Given the description of an element on the screen output the (x, y) to click on. 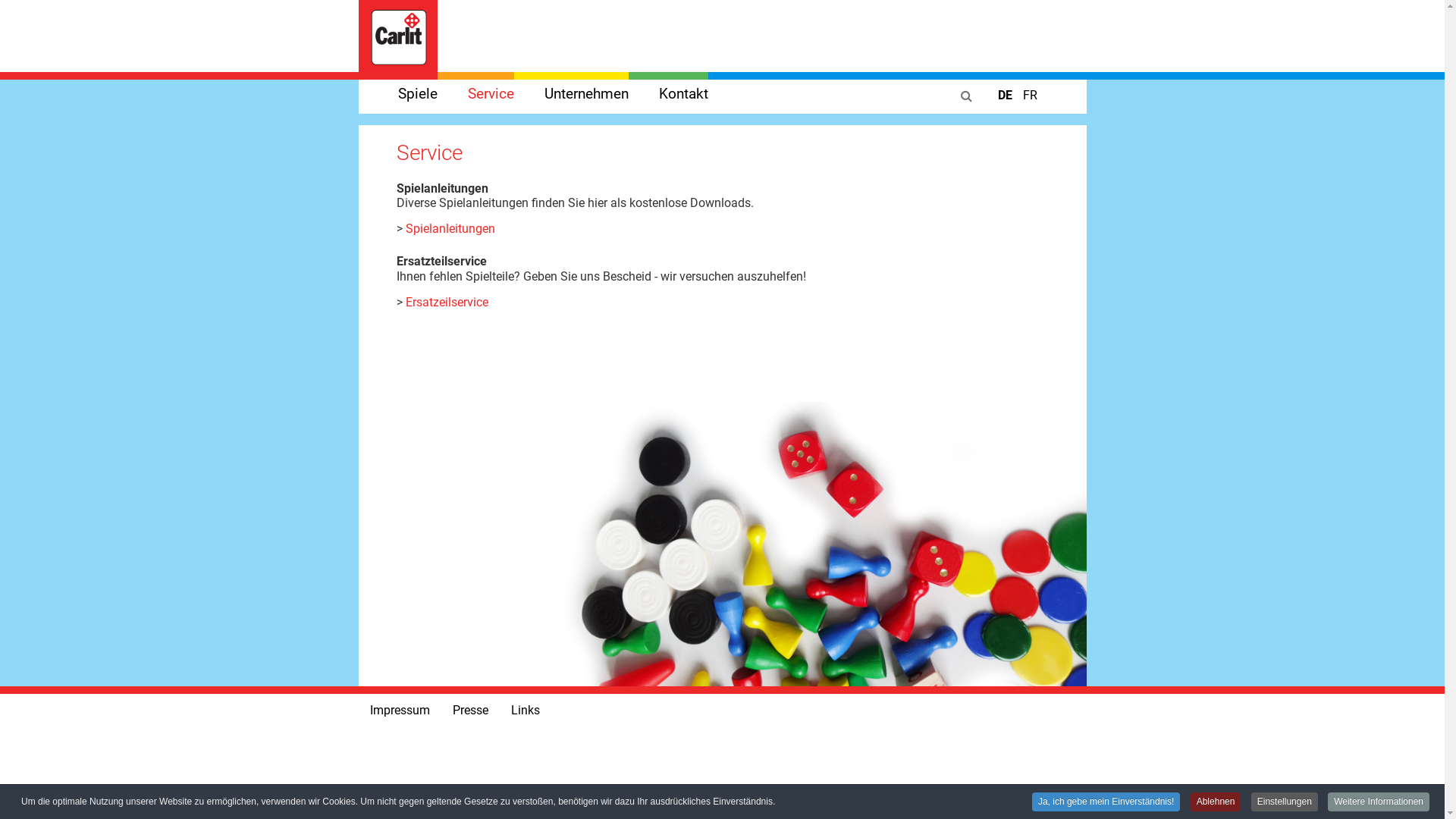
Weitere Informationen Element type: text (1378, 801)
carlit.ch Element type: hover (396, 35)
DE Element type: text (1006, 94)
Kontakt Element type: text (667, 93)
1 Element type: text (680, 500)
Spielanleitungen Element type: text (449, 228)
Allow All Cookies Element type: text (570, 545)
Ersatzeilservice Element type: text (445, 301)
Service Element type: text (474, 93)
Presse Element type: text (470, 710)
Links Element type: text (524, 710)
Ablehnen Element type: text (1215, 801)
Unternehmen Element type: text (571, 93)
Spiele Element type: text (396, 93)
carlit.ch Element type: hover (396, 36)
FR Element type: text (1029, 94)
Alle Cookies ablehnen Element type: text (727, 545)
Einstellungen speichern Element type: text (884, 545)
Einstellungen Element type: text (1284, 801)
Impressum Element type: text (398, 710)
